Given the description of an element on the screen output the (x, y) to click on. 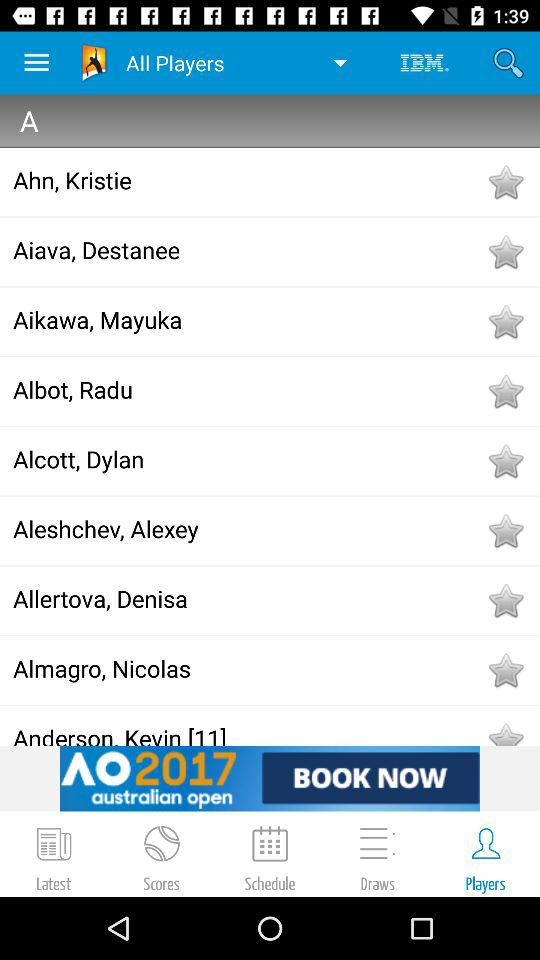
open icon above the a icon (36, 62)
